Given the description of an element on the screen output the (x, y) to click on. 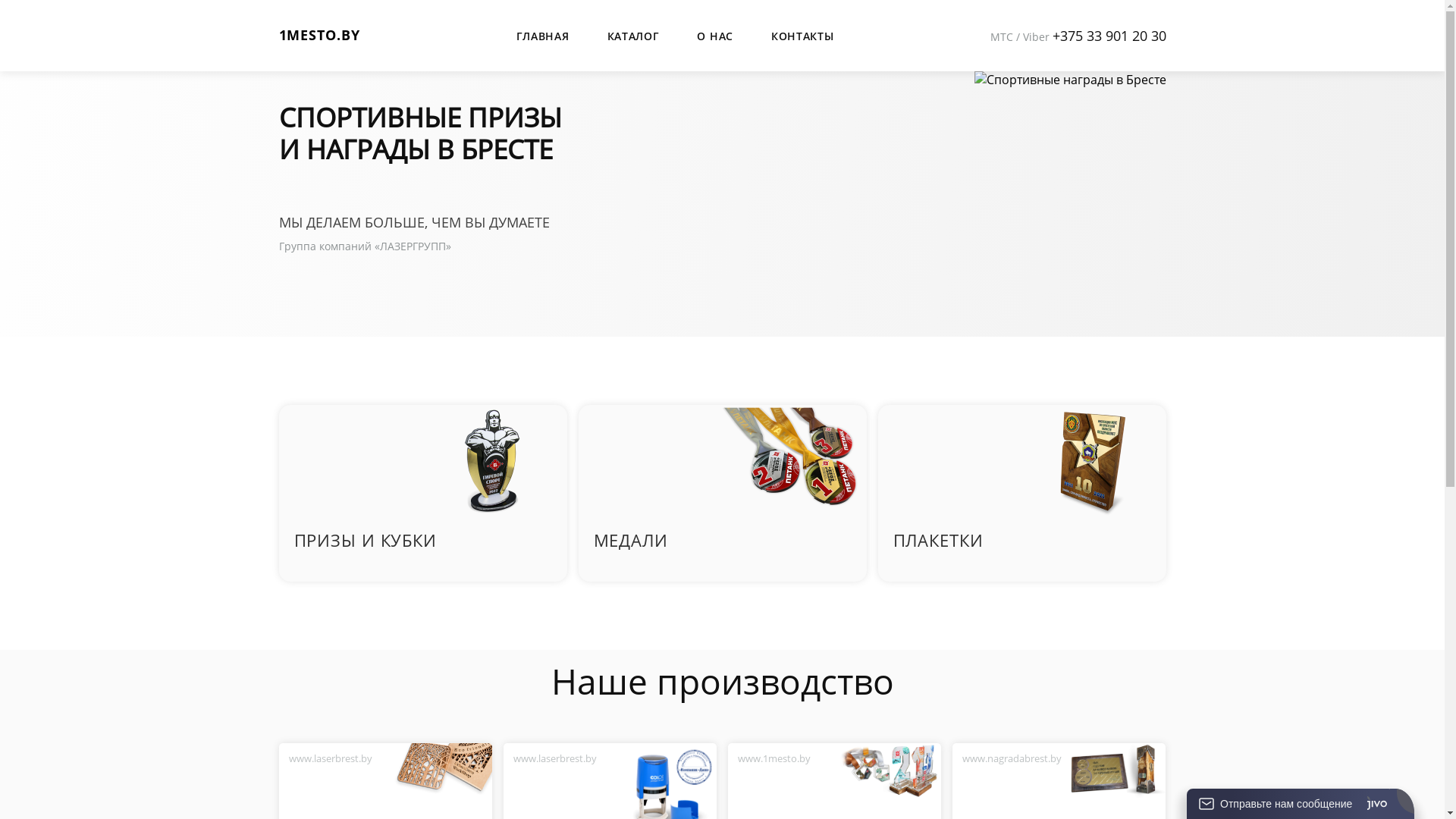
1MESTO.BY Element type: text (319, 34)
www.laserbrest.by Element type: text (554, 758)
www.nagradabrest.by Element type: text (1011, 758)
www.1mesto.by Element type: text (774, 758)
www.laserbrest.by Element type: text (330, 758)
